Given the description of an element on the screen output the (x, y) to click on. 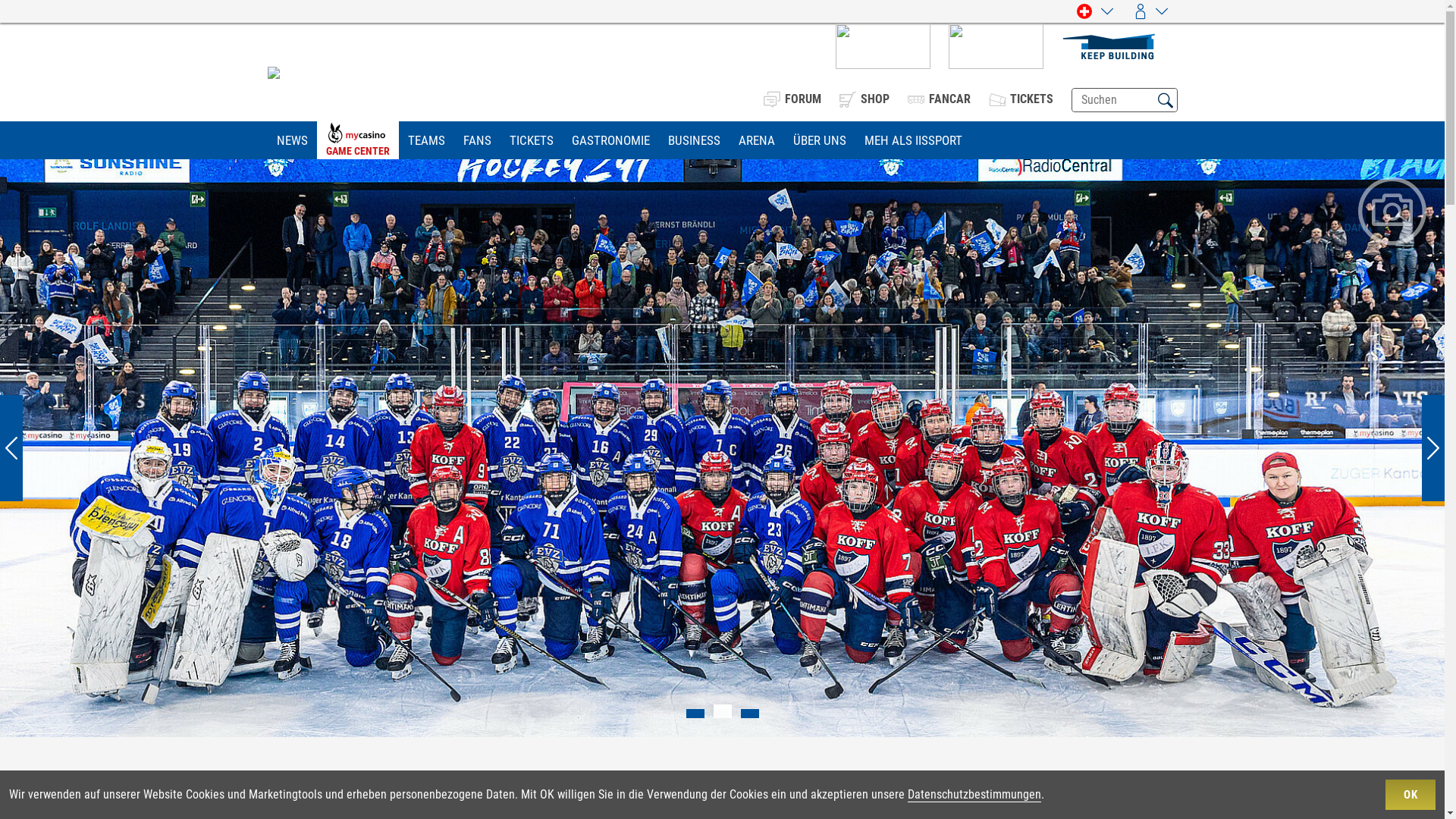
TICKETS Element type: text (531, 140)
BUSINESS Element type: text (693, 140)
FANCAR Element type: text (937, 98)
FANS Element type: text (476, 140)
GASTRONOMIE Element type: text (610, 140)
NEWS Element type: text (291, 140)
OK Element type: text (1410, 794)
FORUM Element type: text (791, 98)
2 Element type: text (720, 716)
TICKETS Element type: text (1020, 98)
Datenschutzbestimmungen Element type: text (974, 794)
GAME CENTER Element type: text (357, 140)
ARENA Element type: text (756, 140)
1 Element type: text (692, 716)
National League Element type: hover (721, 782)
MEH ALS IISSPORT Element type: text (913, 140)
SHOP Element type: text (863, 98)
TEAMS Element type: text (426, 140)
3 Element type: text (747, 716)
